Given the description of an element on the screen output the (x, y) to click on. 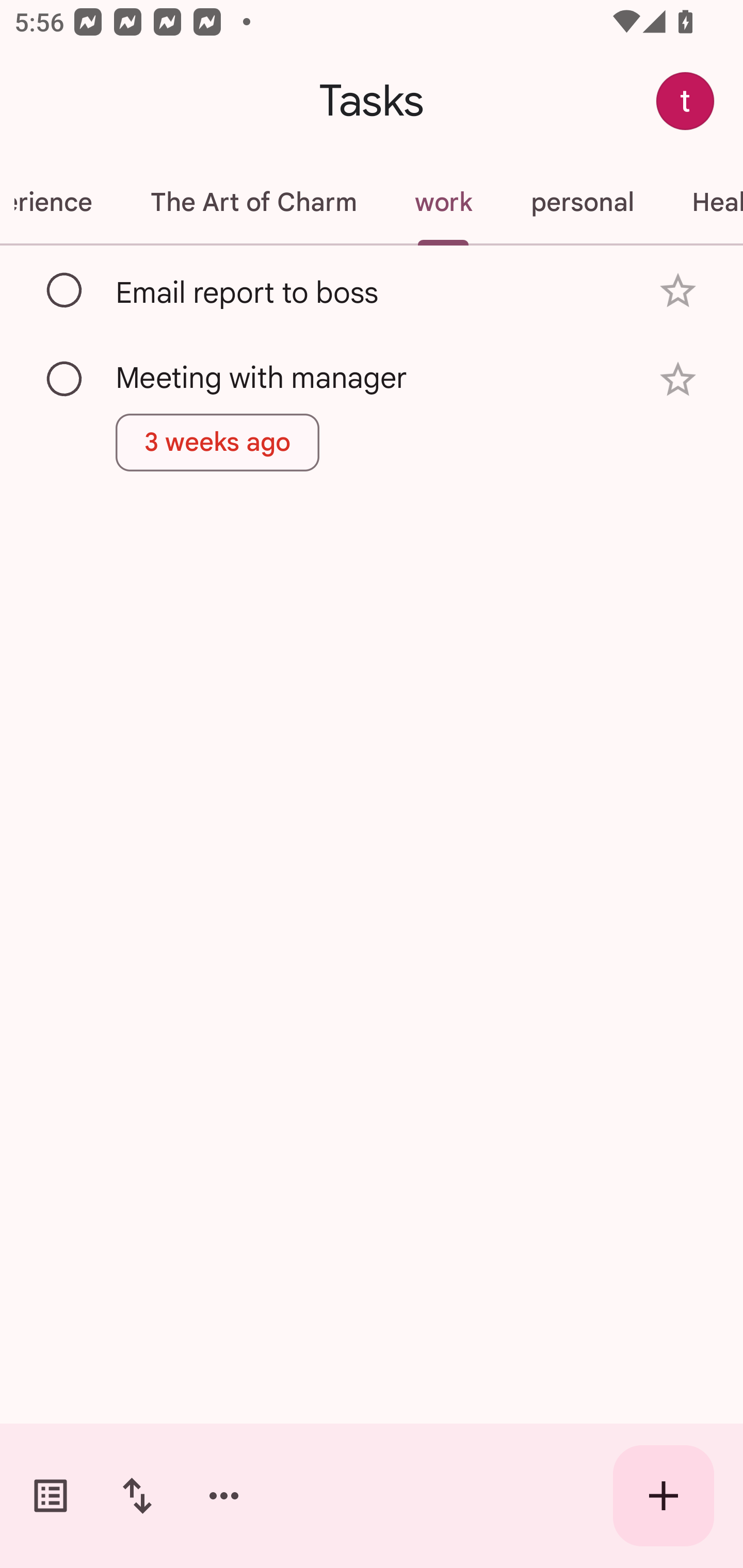
The Joe Rogan Experience (60, 202)
The Art of Charm (253, 202)
personal (581, 202)
Add star (677, 290)
Mark as complete (64, 290)
Add star (677, 379)
Mark as complete (64, 379)
3 weeks ago (217, 442)
Switch task lists (50, 1495)
Create new task (663, 1495)
Change sort order (136, 1495)
More options (223, 1495)
